Given the description of an element on the screen output the (x, y) to click on. 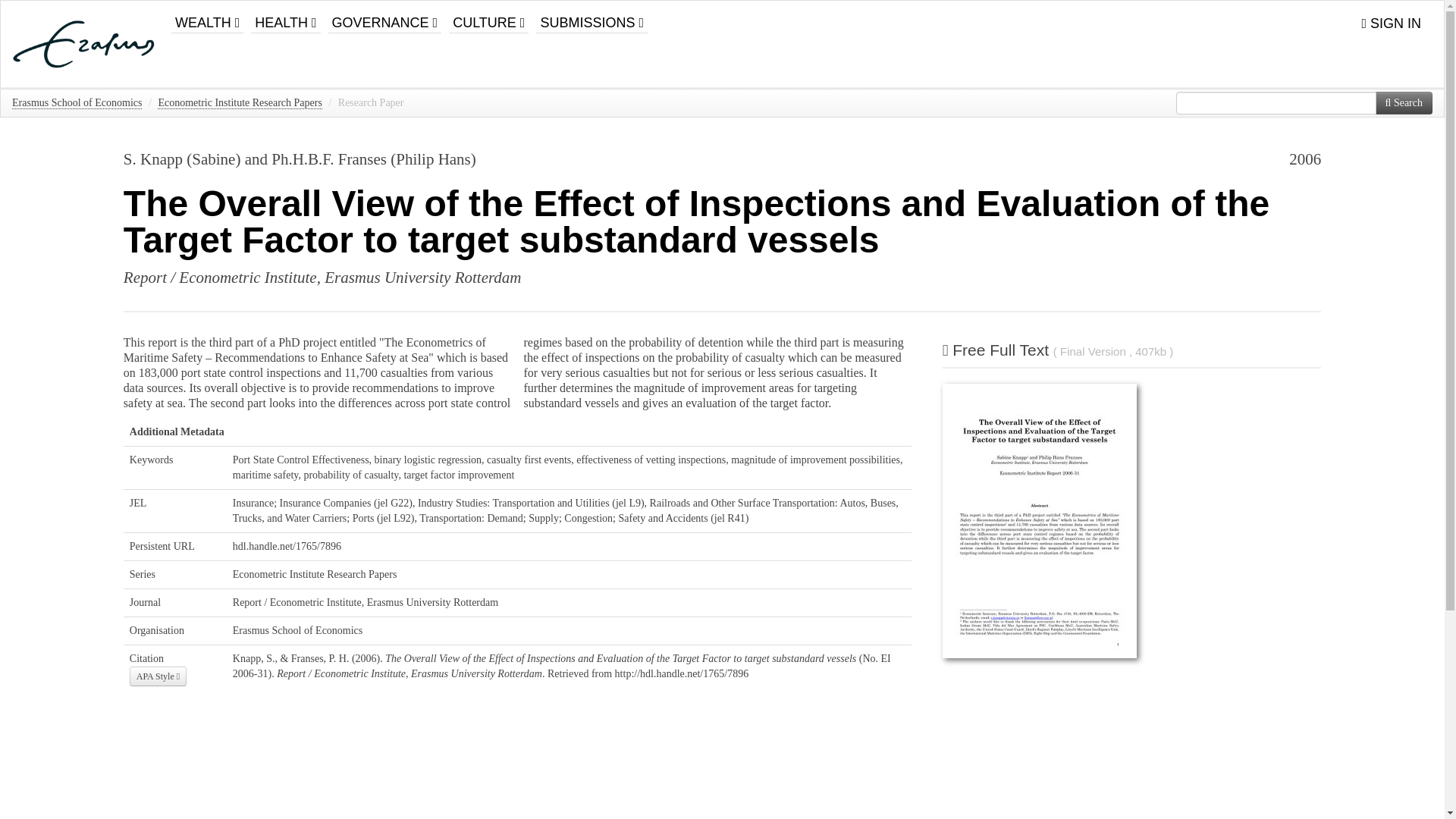
HEALTH (285, 16)
SIGN IN (1391, 23)
Econometric Institute Research Papers (239, 102)
GOVERNANCE (385, 16)
Erasmus School of Economics (76, 102)
WEALTH (207, 16)
CULTURE (488, 16)
APA Style (157, 676)
Search (1403, 102)
Econometric Institute Research Papers (314, 573)
Erasmus School of Economics (297, 630)
SUBMISSIONS (591, 16)
